Given the description of an element on the screen output the (x, y) to click on. 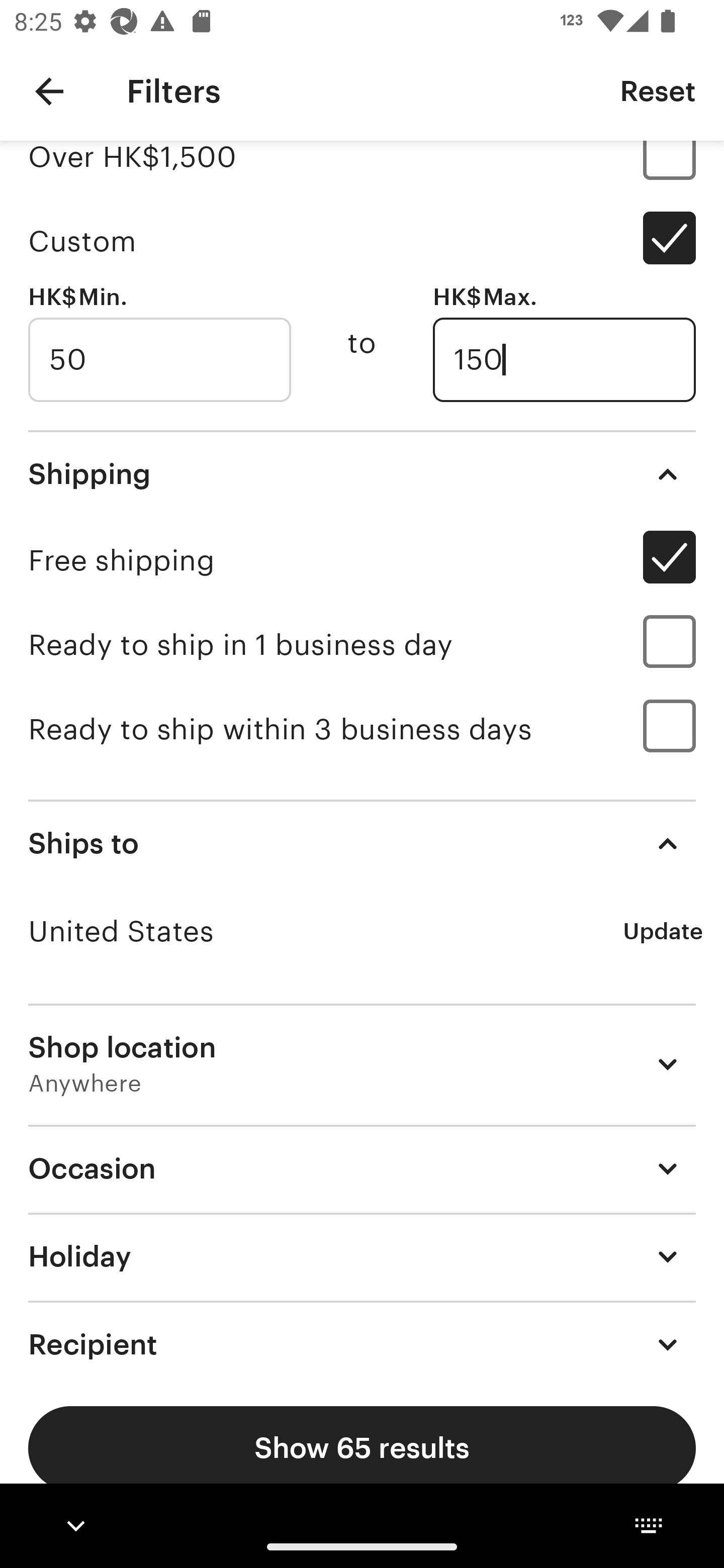
Navigate up (49, 91)
Reset (657, 90)
Over HK$1,500 (362, 170)
Custom (362, 241)
50 (159, 359)
150 (563, 359)
Shipping (362, 473)
Free shipping (362, 559)
Ready to ship in 1 business day (362, 644)
Ready to ship within 3 business days (362, 728)
Ships to (362, 843)
Update (662, 931)
Shop location Anywhere (362, 1063)
Occasion (362, 1168)
Holiday (362, 1255)
Recipient (362, 1338)
Show 65 results Show 630 results (361, 1448)
